Given the description of an element on the screen output the (x, y) to click on. 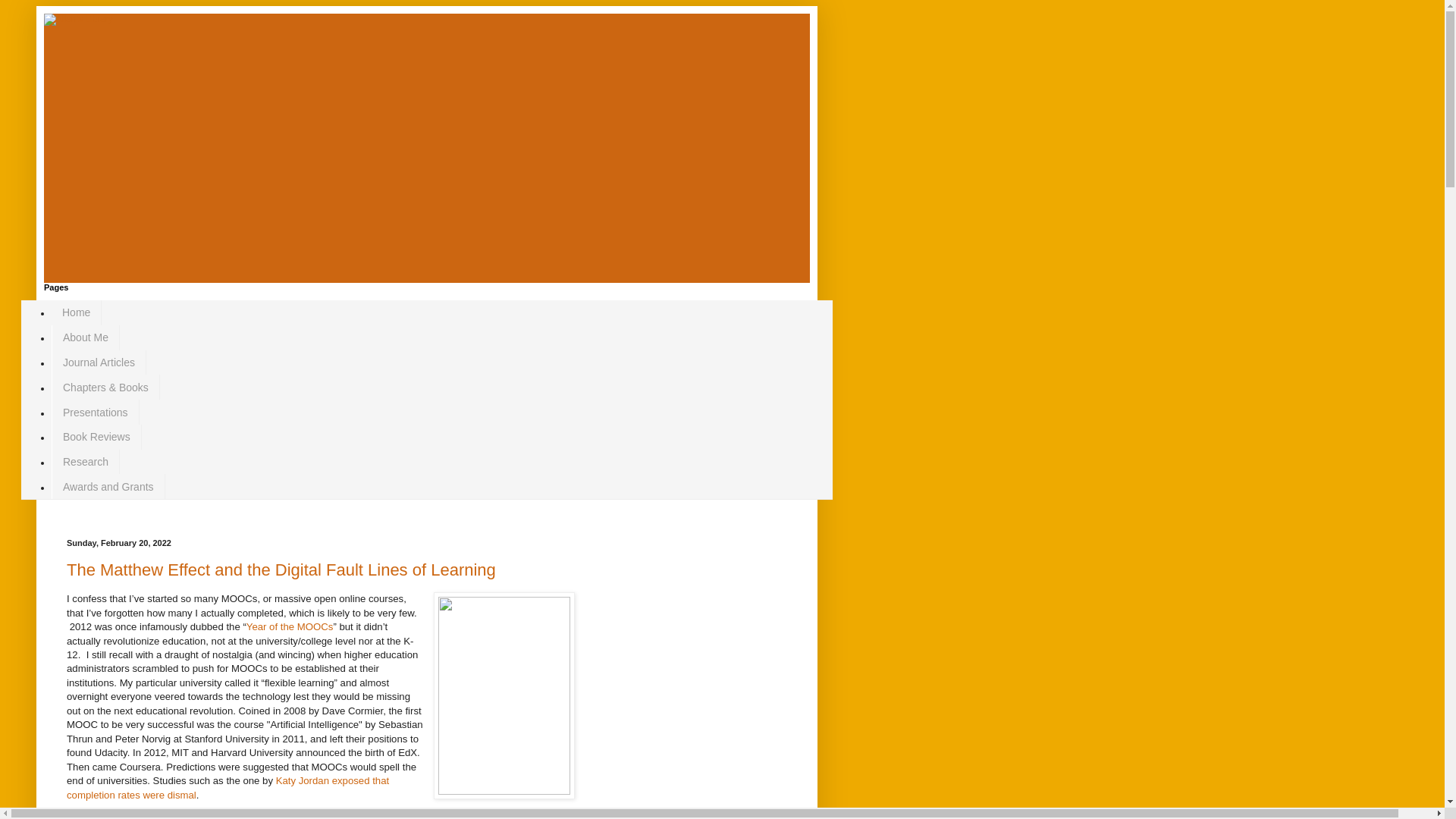
The Matthew Effect and the Digital Fault Lines of Learning (281, 569)
Home (75, 312)
Awards and Grants (107, 486)
About Me (84, 337)
Katy Jordan exposed that completion rates were dismal (227, 787)
Journal Articles (98, 362)
Presentations (94, 412)
Book Reviews (95, 437)
Research (84, 462)
Year of the MOOCs (289, 626)
